Given the description of an element on the screen output the (x, y) to click on. 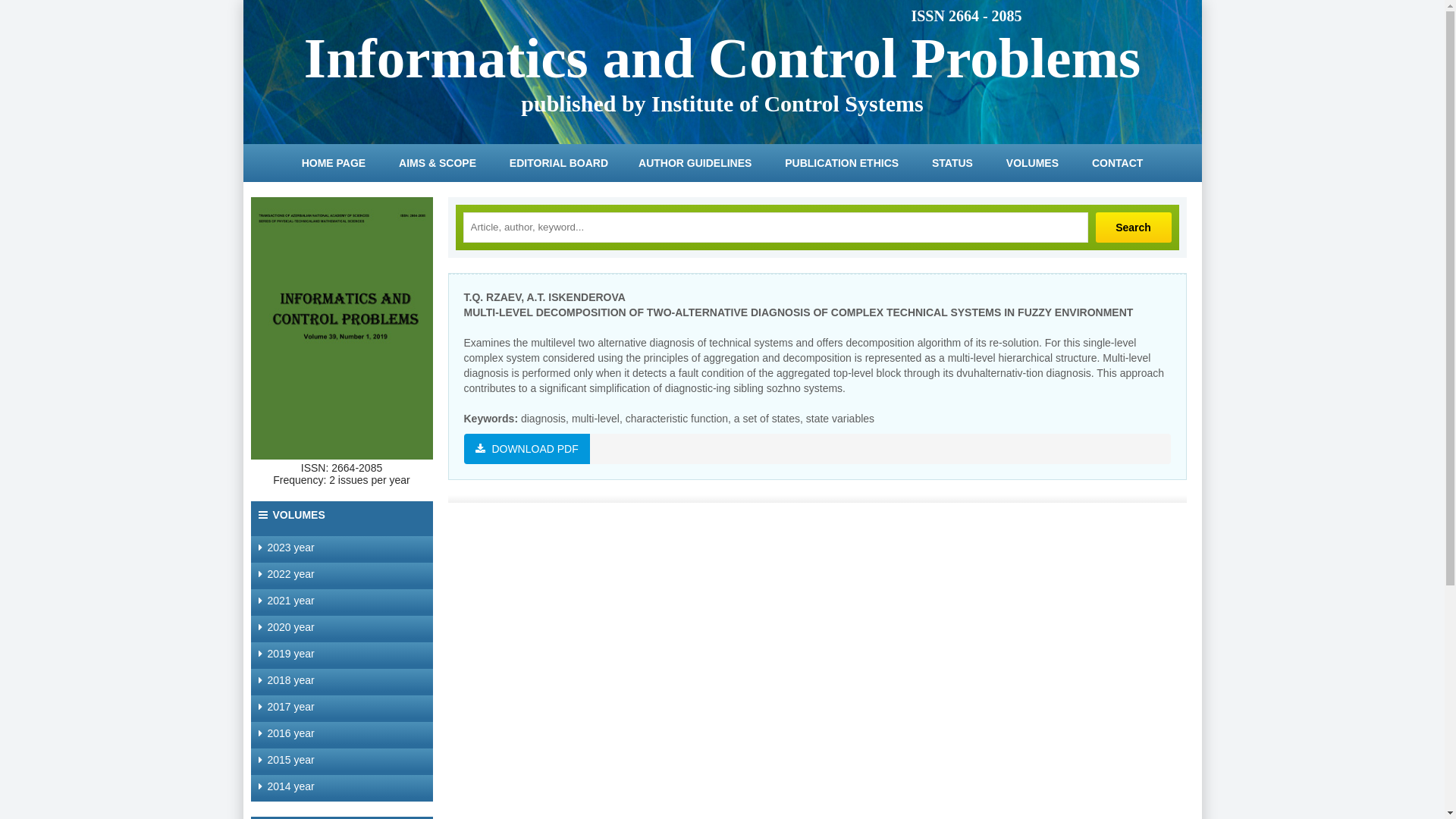
CONTACT Element type: text (1116, 163)
AUTHOR GUIDELINES Element type: text (694, 163)
PUBLICATION ETHICS Element type: text (841, 163)
AIMS & SCOPE Element type: text (437, 163)
VOLUMES Element type: text (1032, 163)
Search Element type: text (1132, 227)
EDITORIAL BOARD Element type: text (558, 163)
HOME PAGE Element type: text (333, 163)
STATUS Element type: text (952, 163)
DOWNLOAD PDF Element type: text (526, 448)
